Given the description of an element on the screen output the (x, y) to click on. 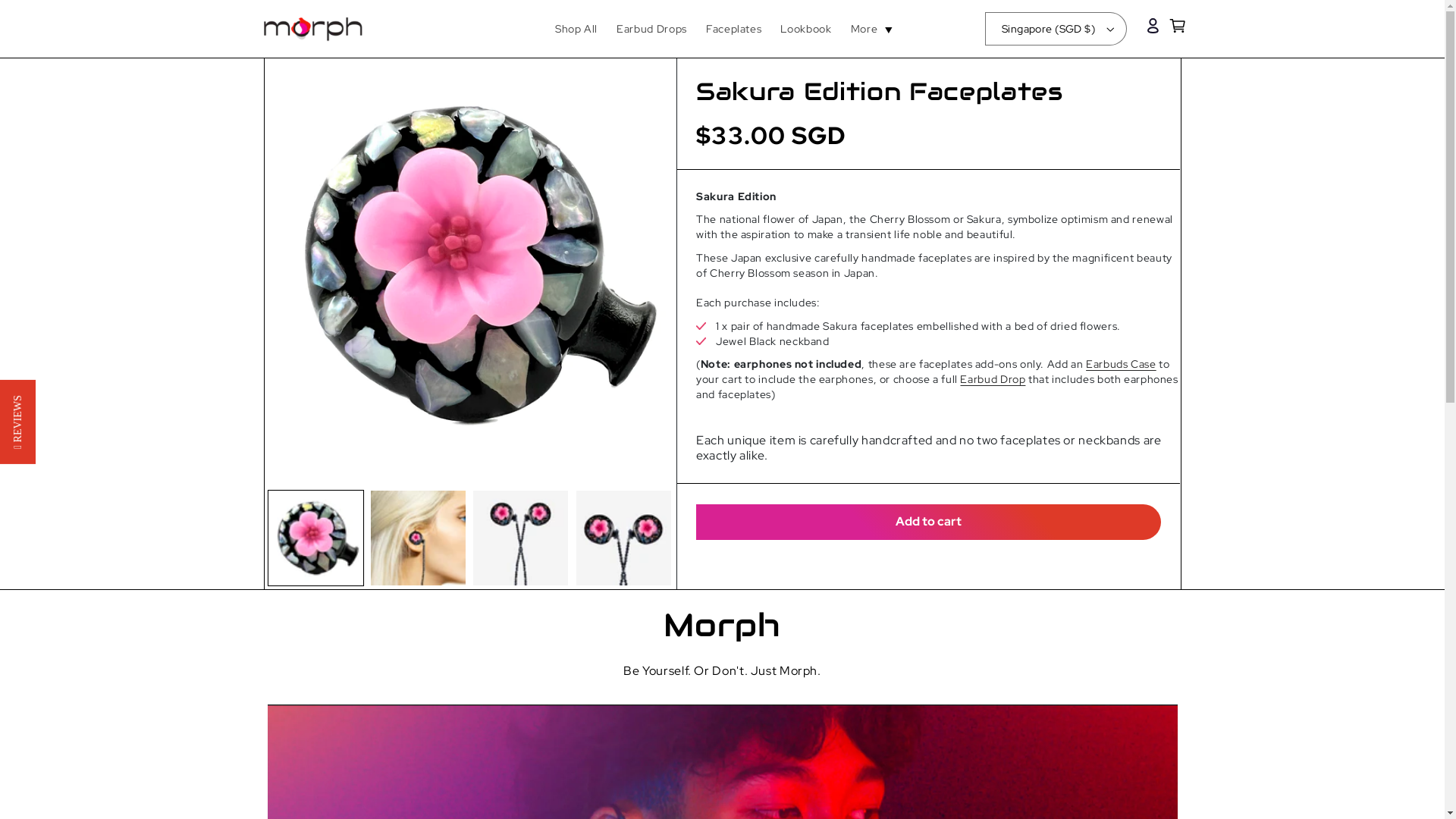
Earbud Drop Element type: text (992, 378)
Earbud Drops Element type: text (651, 28)
Earbuds Case Element type: text (1120, 363)
Log in Element type: text (1152, 25)
Submit Element type: text (25, 10)
Add to cart Element type: text (928, 521)
Singapore (SGD $) Element type: text (1055, 28)
Faceplates Element type: text (733, 28)
Skip to product information Element type: text (311, 75)
Lookbook Element type: text (805, 28)
Cart Element type: text (1177, 25)
Shop All Element type: text (575, 28)
